Given the description of an element on the screen output the (x, y) to click on. 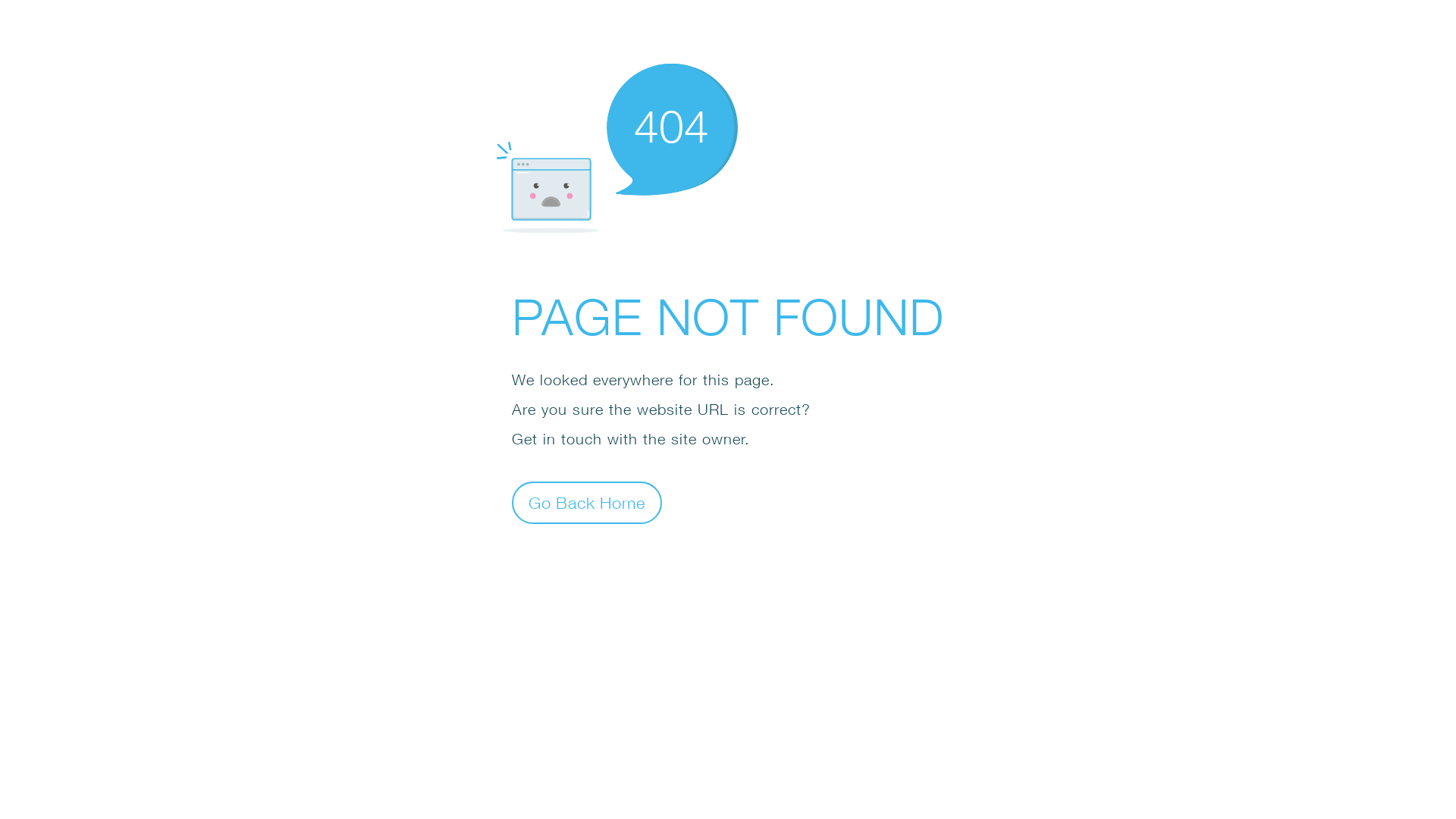
Go Back Home Element type: text (586, 502)
